Given the description of an element on the screen output the (x, y) to click on. 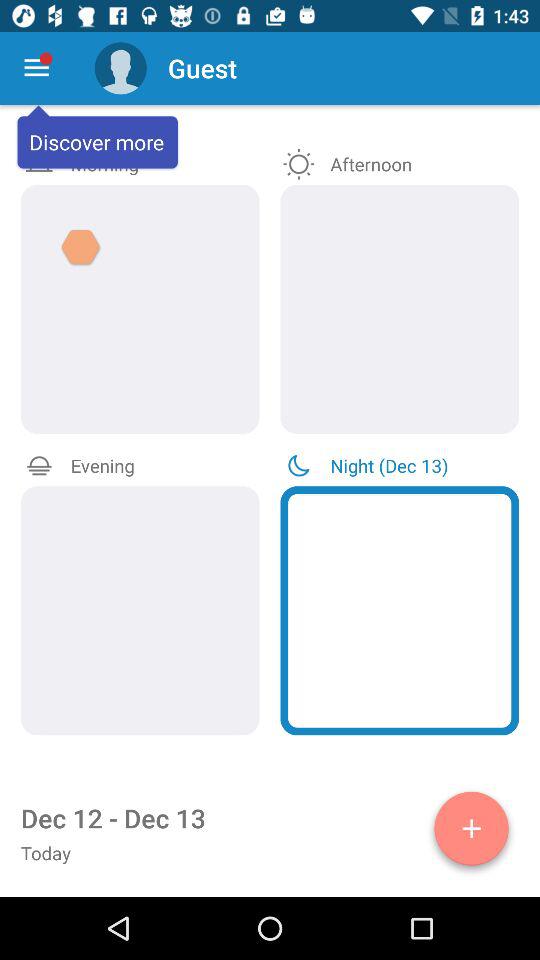
add reminder (471, 832)
